Given the description of an element on the screen output the (x, y) to click on. 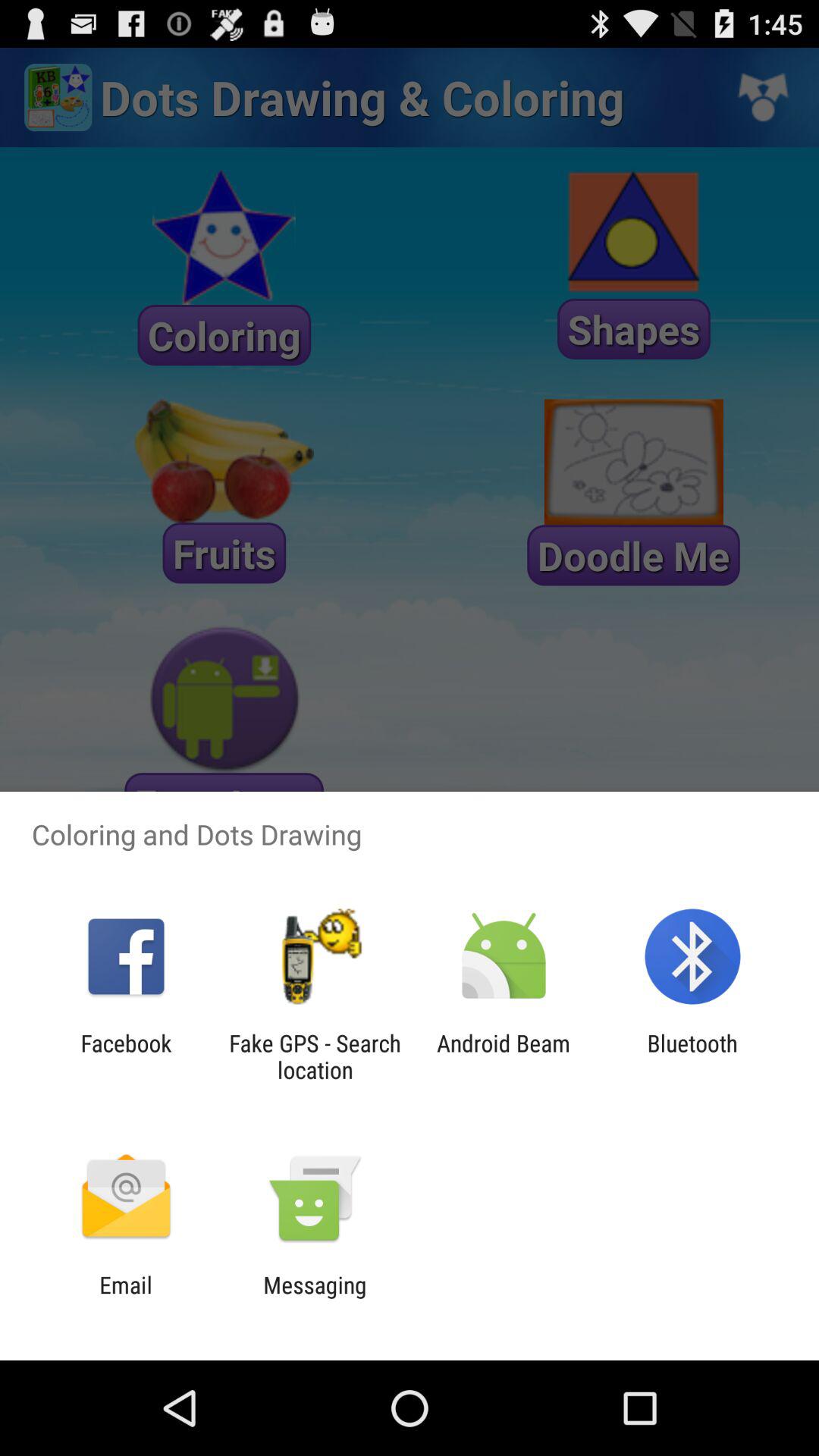
click android beam app (503, 1056)
